Given the description of an element on the screen output the (x, y) to click on. 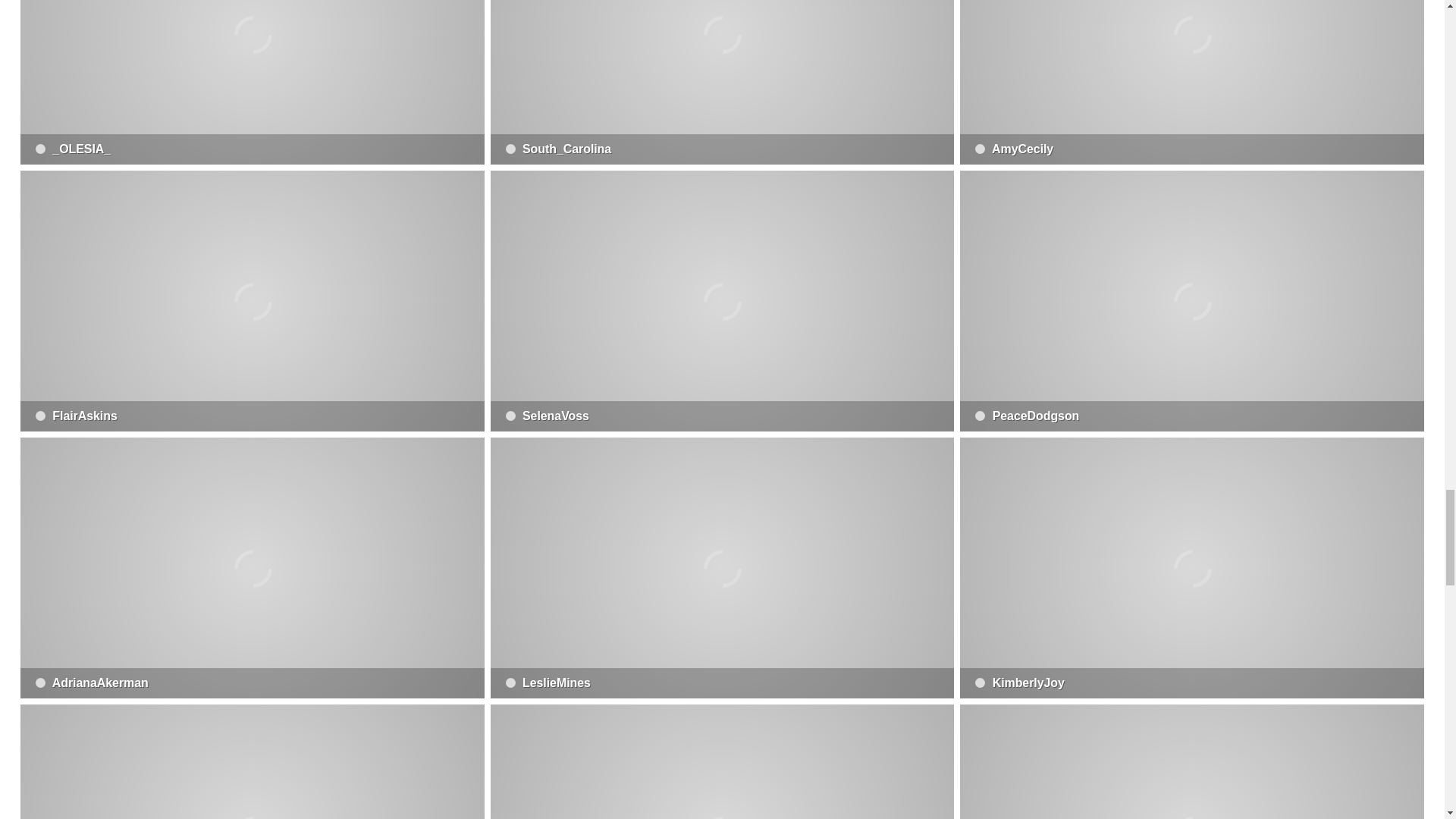
FlairAskins (252, 300)
AmyCecily (1191, 82)
